Given the description of an element on the screen output the (x, y) to click on. 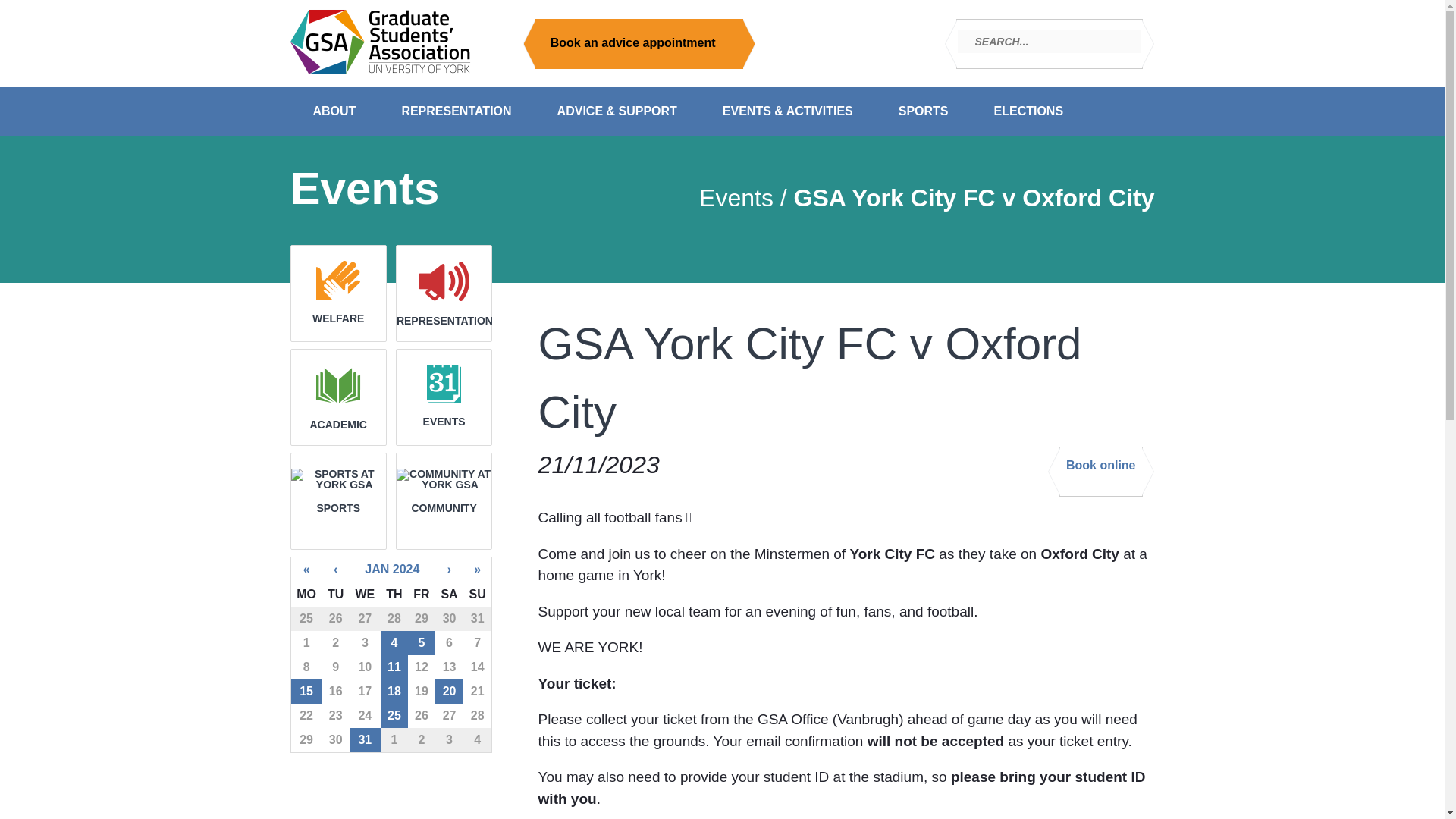
REPRESENTATION (456, 110)
ELECTIONS (1028, 110)
Book an advice appointment (638, 43)
SPORTS (923, 110)
ABOUT (333, 110)
Events (735, 197)
